Given the description of an element on the screen output the (x, y) to click on. 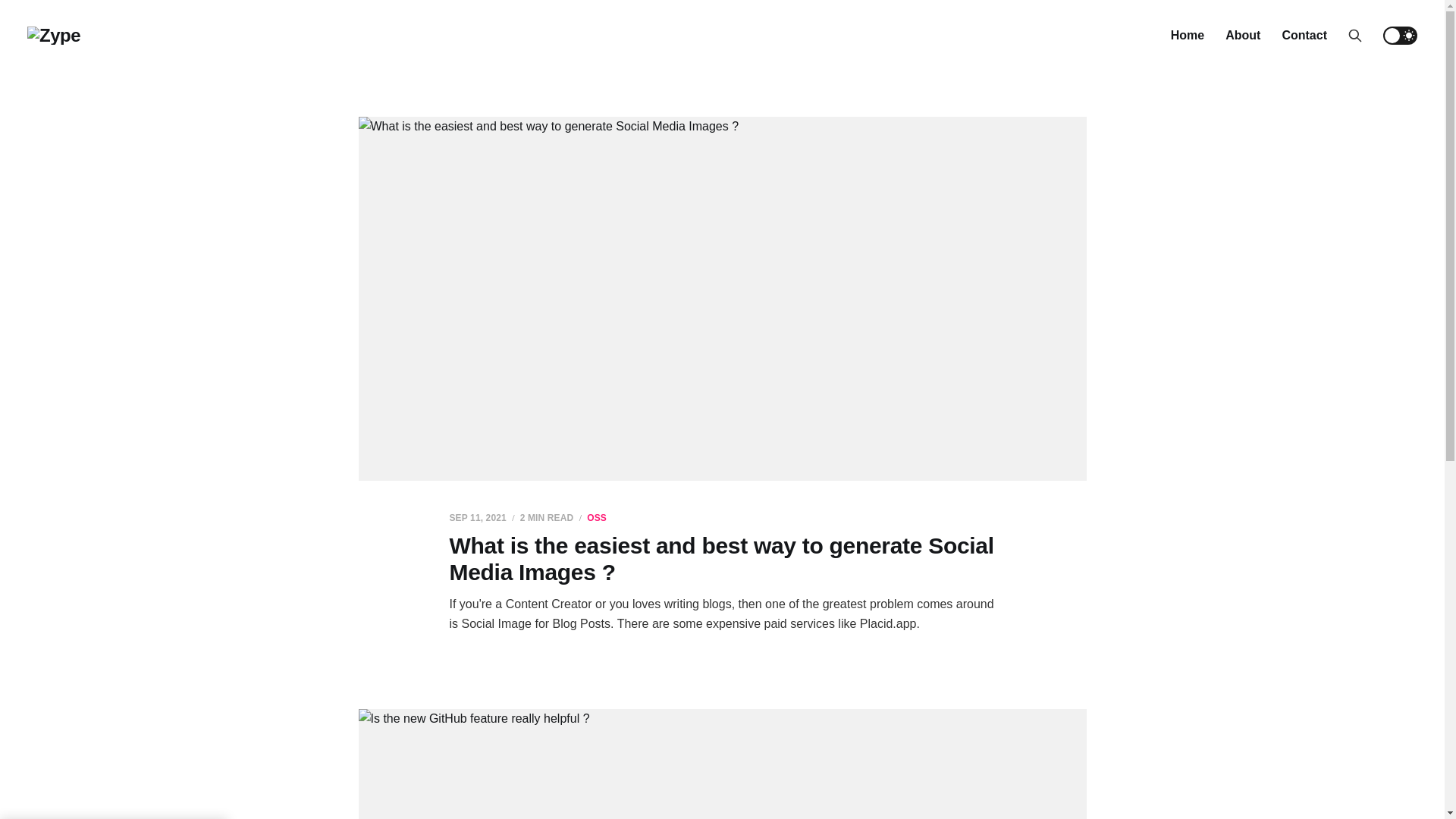
OSS Element type: text (596, 517)
Contact Element type: text (1304, 34)
Home Element type: text (1187, 34)
About Element type: text (1242, 34)
